Given the description of an element on the screen output the (x, y) to click on. 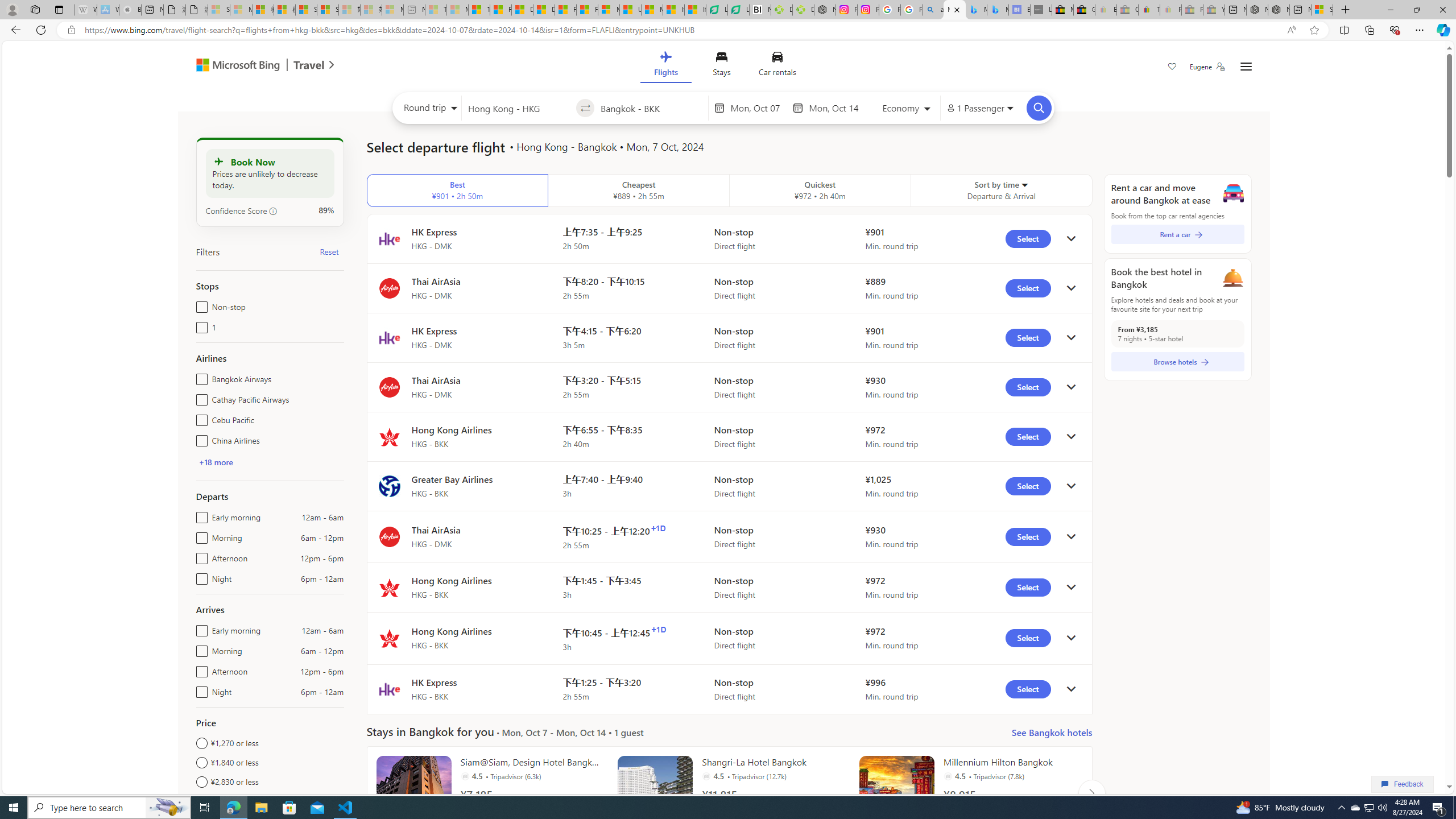
Buy iPad - Apple - Sleeping (130, 9)
alabama high school quarterback dies - Search (933, 9)
Flights (665, 65)
